Given the description of an element on the screen output the (x, y) to click on. 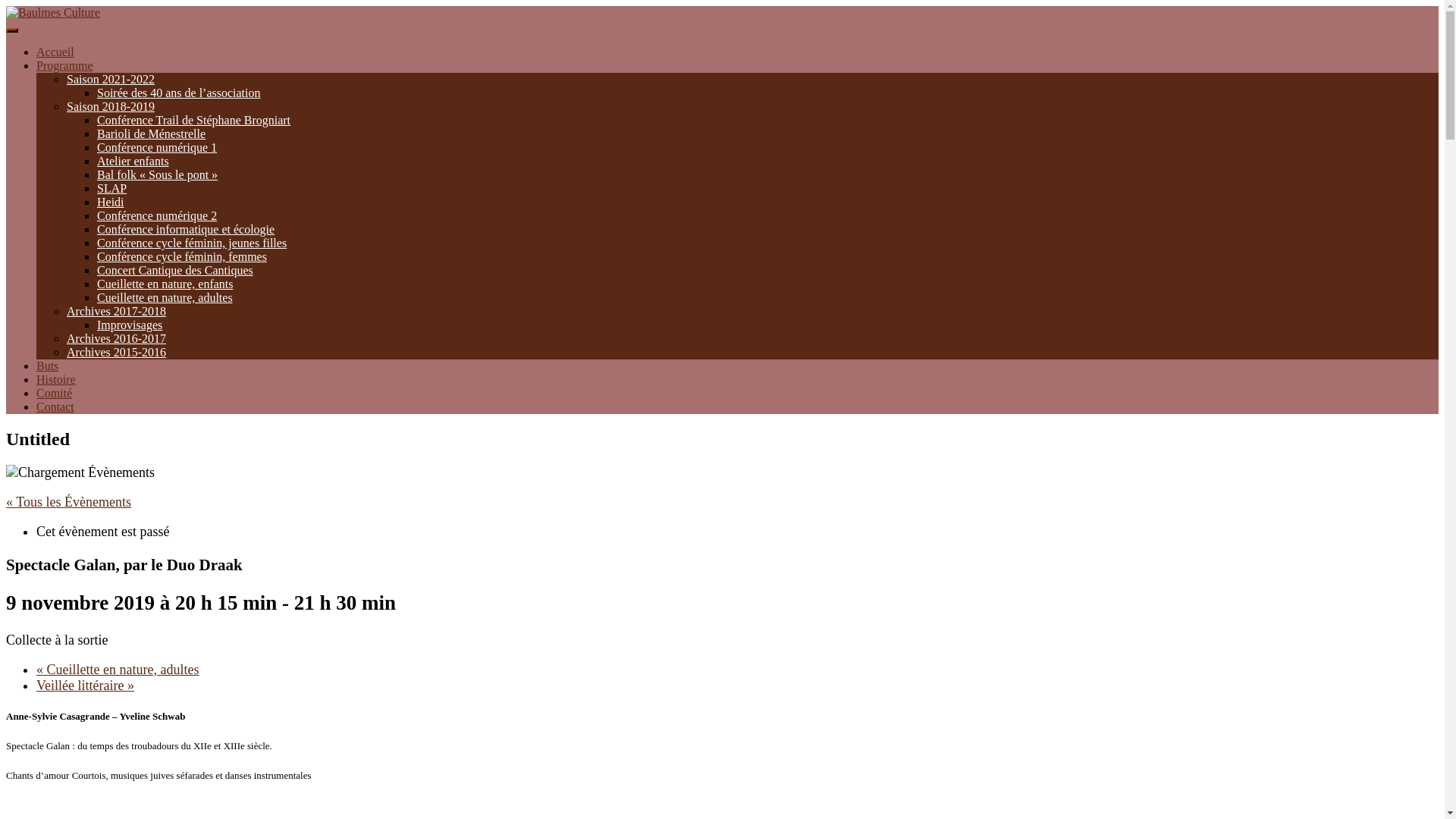
Improvisages Element type: text (129, 324)
Atelier enfants Element type: text (133, 160)
Archives 2015-2016 Element type: text (116, 351)
Buts Element type: text (47, 365)
Histoire Element type: text (55, 379)
Toggle navigation Element type: text (12, 30)
Contact Element type: text (55, 406)
Cueillette en nature, enfants Element type: text (164, 283)
Archives 2017-2018 Element type: text (116, 310)
Programme Element type: text (64, 65)
Concert Cantique des Cantiques Element type: text (175, 269)
SLAP Element type: text (111, 188)
Skip to main content Element type: text (5, 5)
Heidi Element type: text (110, 201)
Accueil Element type: text (55, 51)
Archives 2016-2017 Element type: text (116, 338)
Saison 2021-2022 Element type: text (110, 78)
Saison 2018-2019 Element type: text (110, 106)
Cueillette en nature, adultes Element type: text (164, 297)
